Given the description of an element on the screen output the (x, y) to click on. 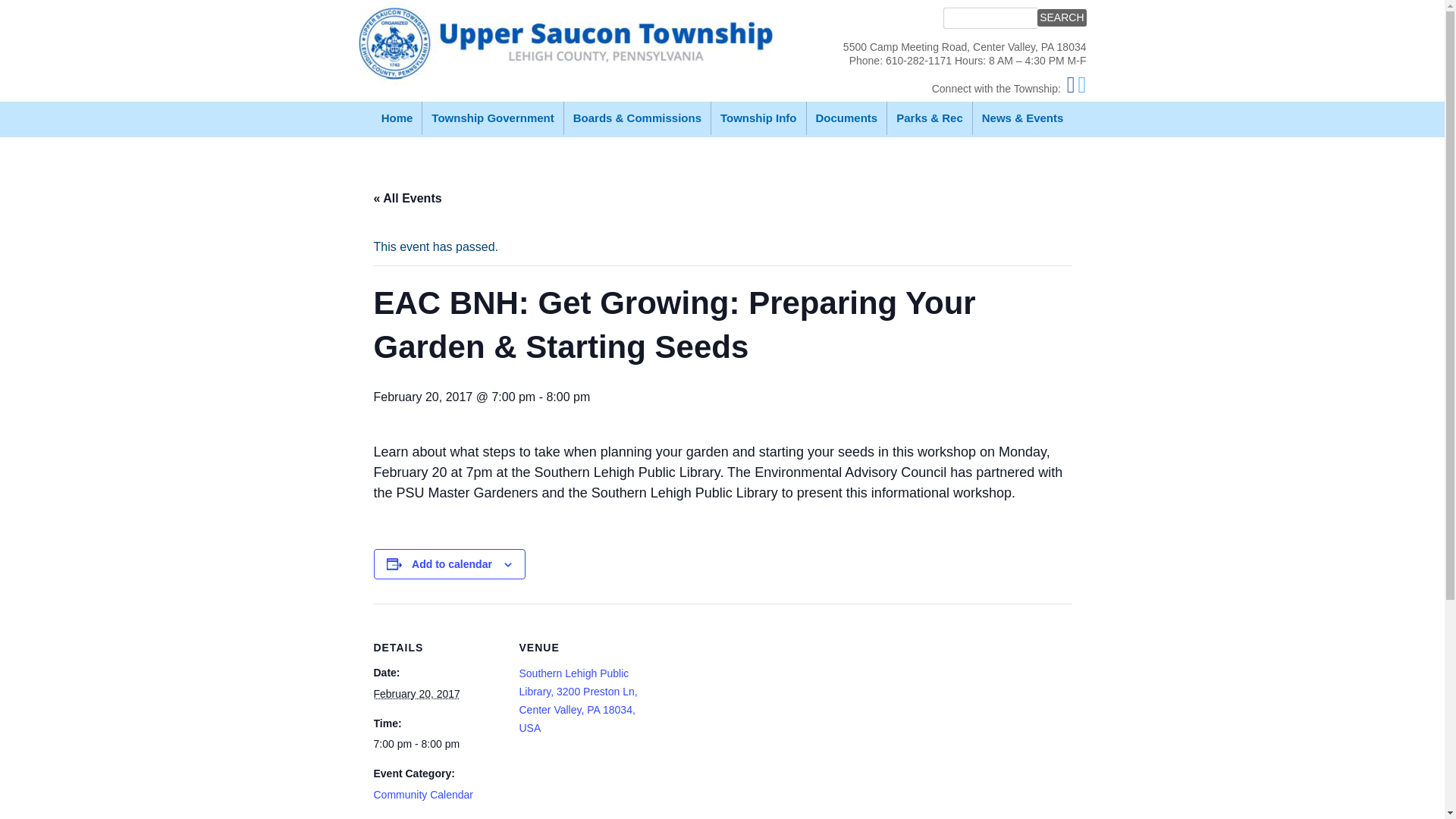
2017-02-20 (416, 693)
2017-02-20 (436, 743)
Search (1061, 17)
Township Government (492, 118)
Township Info (758, 118)
Home (397, 118)
Search (1061, 17)
